Given the description of an element on the screen output the (x, y) to click on. 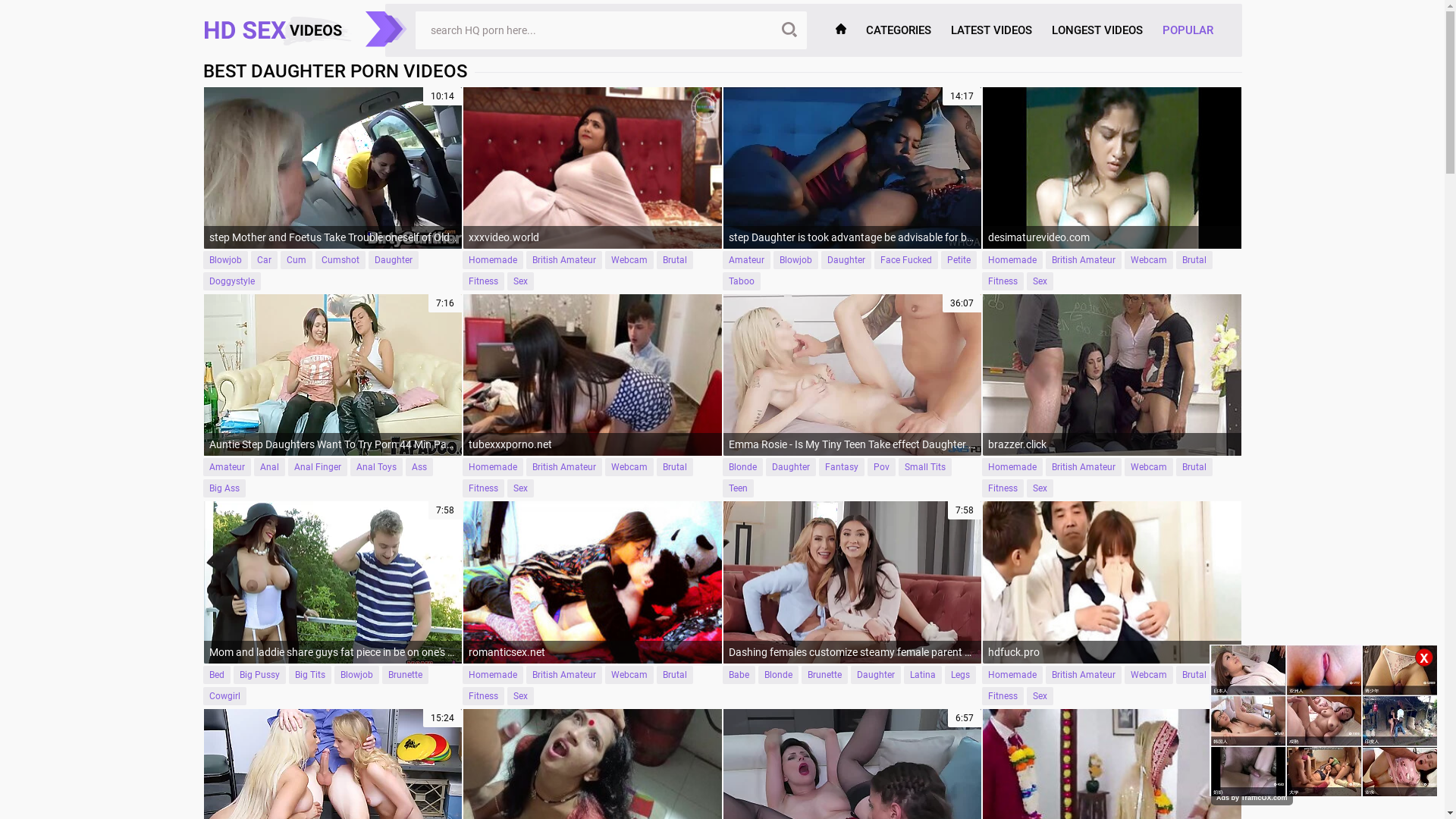
Webcam Element type: text (1148, 467)
Blonde Element type: text (741, 467)
Small Tits Element type: text (923, 467)
POPULAR Element type: text (1187, 30)
Homemade Element type: text (492, 674)
tubexxxporno.net Element type: text (592, 374)
Babe Element type: text (737, 674)
Blowjob Element type: text (225, 260)
7:16
Auntie Step Daughters Want To Try Porn 44 Min Part 1 Element type: text (332, 374)
Fitness Element type: text (1002, 696)
Brutal Element type: text (1194, 467)
British Amateur Element type: text (564, 467)
Sex Element type: text (520, 281)
Brutal Element type: text (1194, 674)
hdfuck.pro Element type: text (1111, 581)
Teen Element type: text (737, 488)
Pov Element type: text (881, 467)
Amateur Element type: text (745, 260)
Big Tits Element type: text (309, 674)
Face Fucked Element type: text (905, 260)
Bed Element type: text (216, 674)
Big Ass Element type: text (224, 488)
desimaturevideo.com Element type: text (1111, 167)
brazzer.click Element type: text (1111, 374)
British Amateur Element type: text (1083, 260)
Cowgirl Element type: text (224, 696)
Webcam Element type: text (1148, 674)
Car Element type: text (263, 260)
Fitness Element type: text (483, 281)
Daughter Element type: text (790, 467)
Cumshot Element type: text (340, 260)
British Amateur Element type: text (564, 260)
Brunette Element type: text (823, 674)
Ads by TrafficOX.com Element type: text (1251, 797)
Webcam Element type: text (1148, 260)
Sex Element type: text (1039, 281)
Sex Element type: text (1039, 488)
Blowjob Element type: text (355, 674)
xxxvideo.world Element type: text (592, 167)
Ass Element type: text (418, 467)
Brutal Element type: text (674, 260)
Petite Element type: text (957, 260)
Brutal Element type: text (1194, 260)
Brunette Element type: text (405, 674)
Homemade Element type: text (1012, 674)
Doggystyle Element type: text (231, 281)
Anal Finger Element type: text (317, 467)
British Amateur Element type: text (1083, 674)
Homemade Element type: text (492, 260)
Daughter Element type: text (845, 260)
Sex Element type: text (520, 696)
Fitness Element type: text (483, 488)
Webcam Element type: text (629, 674)
Daughter Element type: text (875, 674)
LATEST VIDEOS Element type: text (990, 30)
Homemade Element type: text (1012, 467)
Homemade Element type: text (492, 467)
Sex Element type: text (520, 488)
Brutal Element type: text (674, 467)
Blowjob Element type: text (795, 260)
Fantasy Element type: text (841, 467)
Webcam Element type: text (629, 467)
Brutal Element type: text (674, 674)
Webcam Element type: text (629, 260)
Legs Element type: text (959, 674)
CATEGORIES Element type: text (897, 30)
British Amateur Element type: text (564, 674)
Big Pussy Element type: text (259, 674)
Taboo Element type: text (740, 281)
Anal Element type: text (268, 467)
Fitness Element type: text (1002, 281)
Fitness Element type: text (483, 696)
Anal Toys Element type: text (376, 467)
Search X Videos Element type: hover (593, 30)
Daughter Element type: text (393, 260)
British Amateur Element type: text (1083, 467)
Amateur Element type: text (227, 467)
LONGEST VIDEOS Element type: text (1096, 30)
Cum Element type: text (296, 260)
Blonde Element type: text (778, 674)
romanticsex.net Element type: text (592, 581)
Latina Element type: text (922, 674)
Fitness Element type: text (1002, 488)
Homemade Element type: text (1012, 260)
Sex Element type: text (1039, 696)
